Given the description of an element on the screen output the (x, y) to click on. 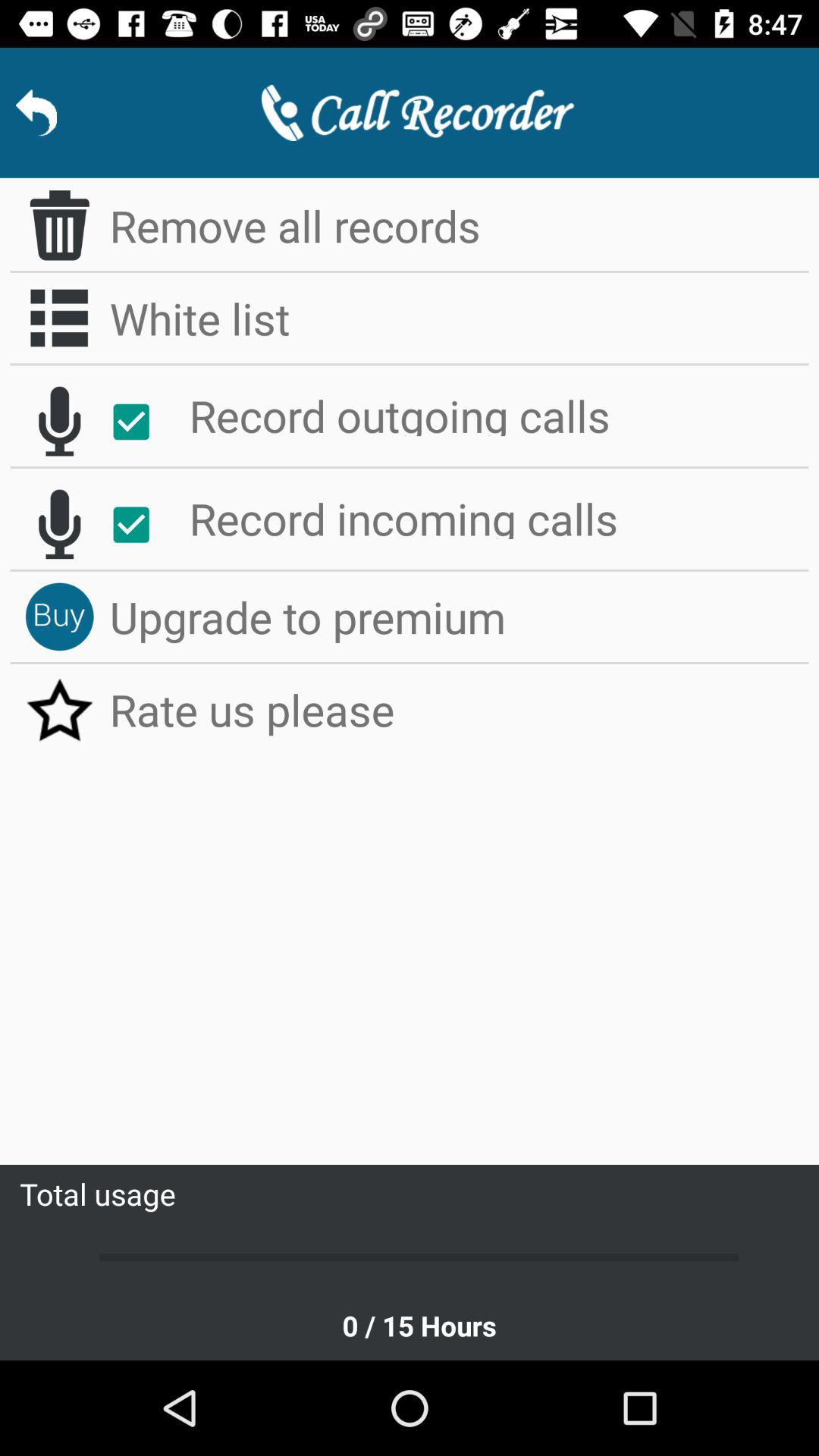
delete (59, 225)
